Given the description of an element on the screen output the (x, y) to click on. 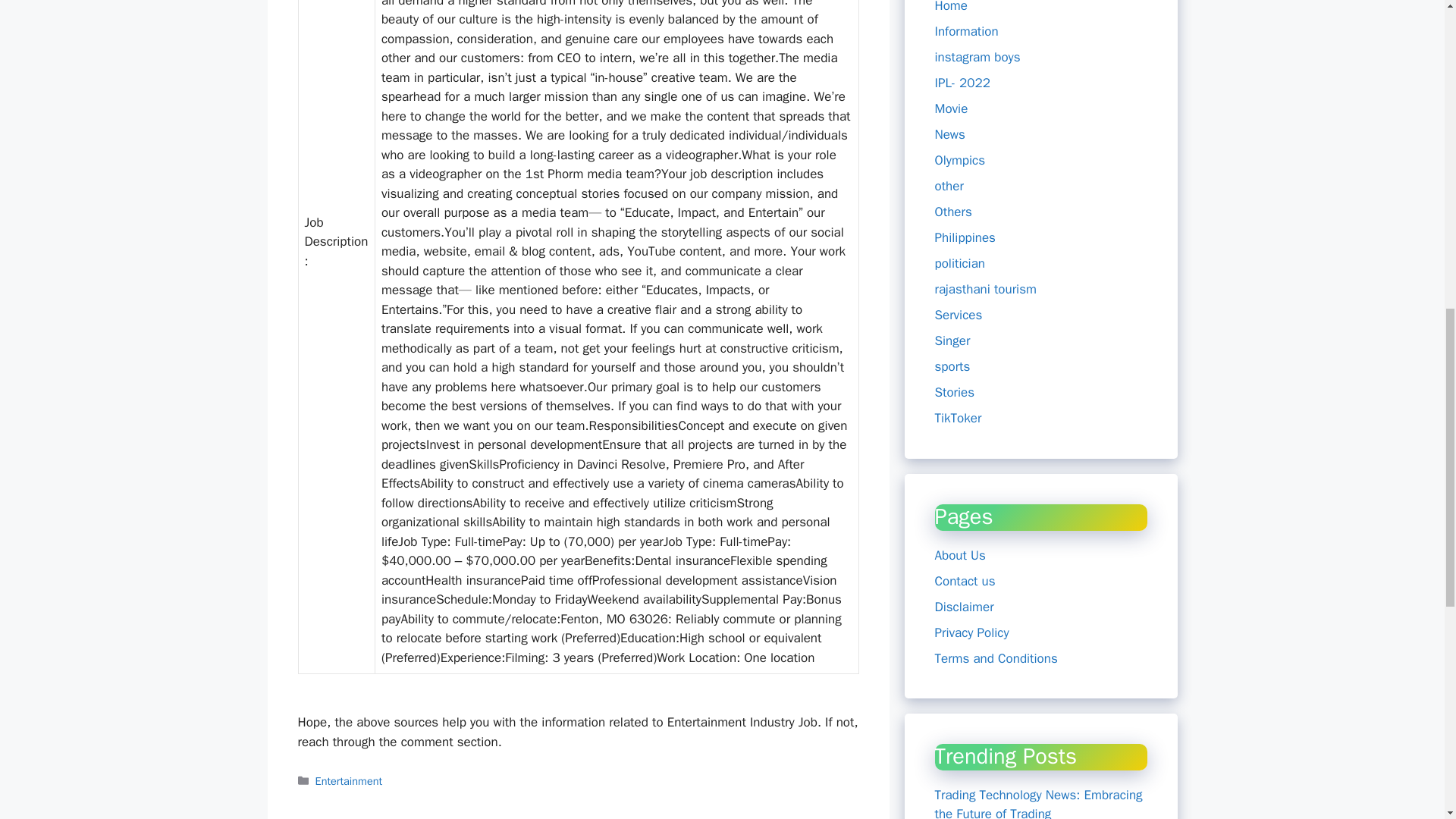
Entertainment (348, 780)
